Given the description of an element on the screen output the (x, y) to click on. 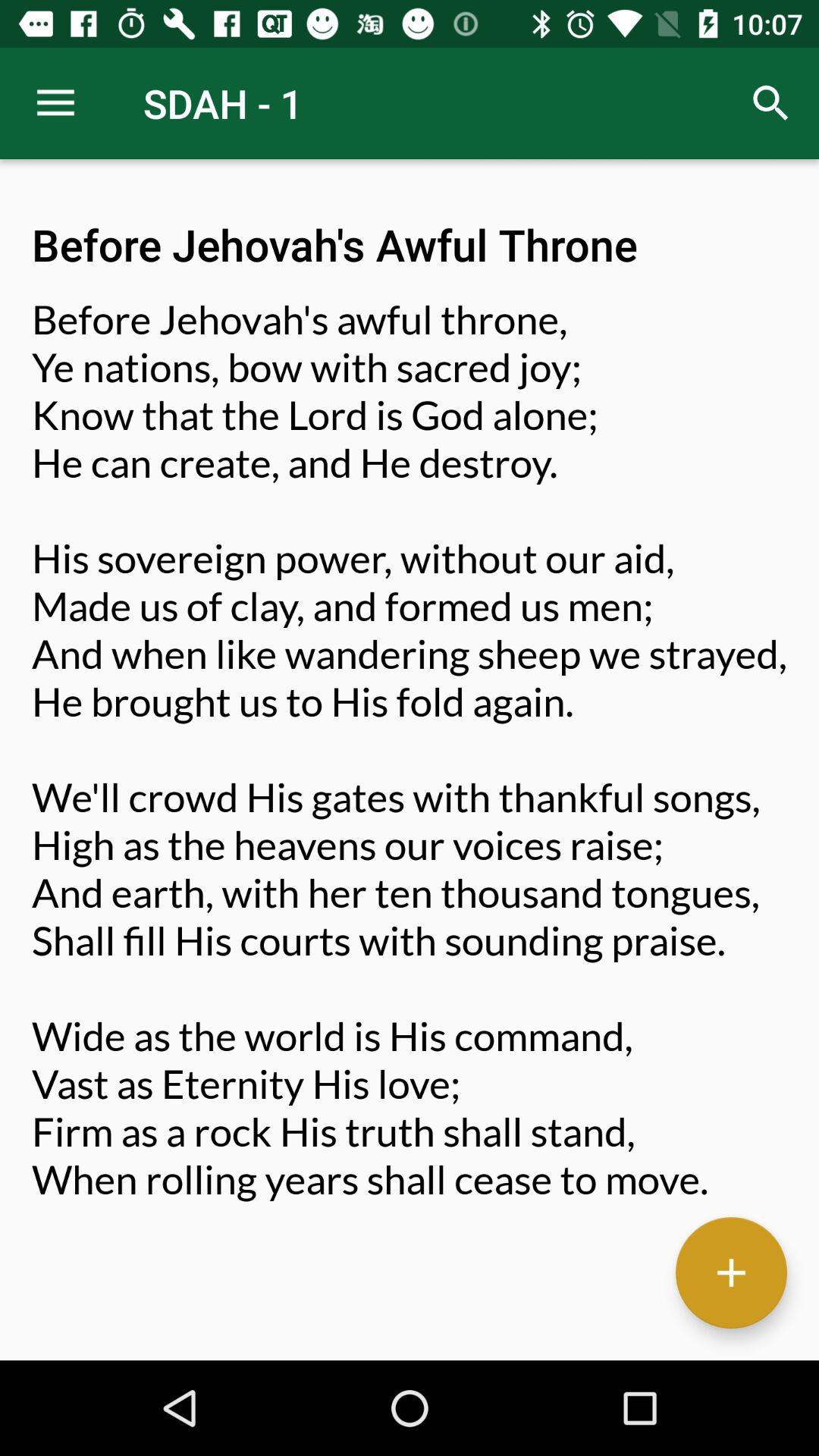
click the item to the left of the sdah - 1 item (55, 103)
